Given the description of an element on the screen output the (x, y) to click on. 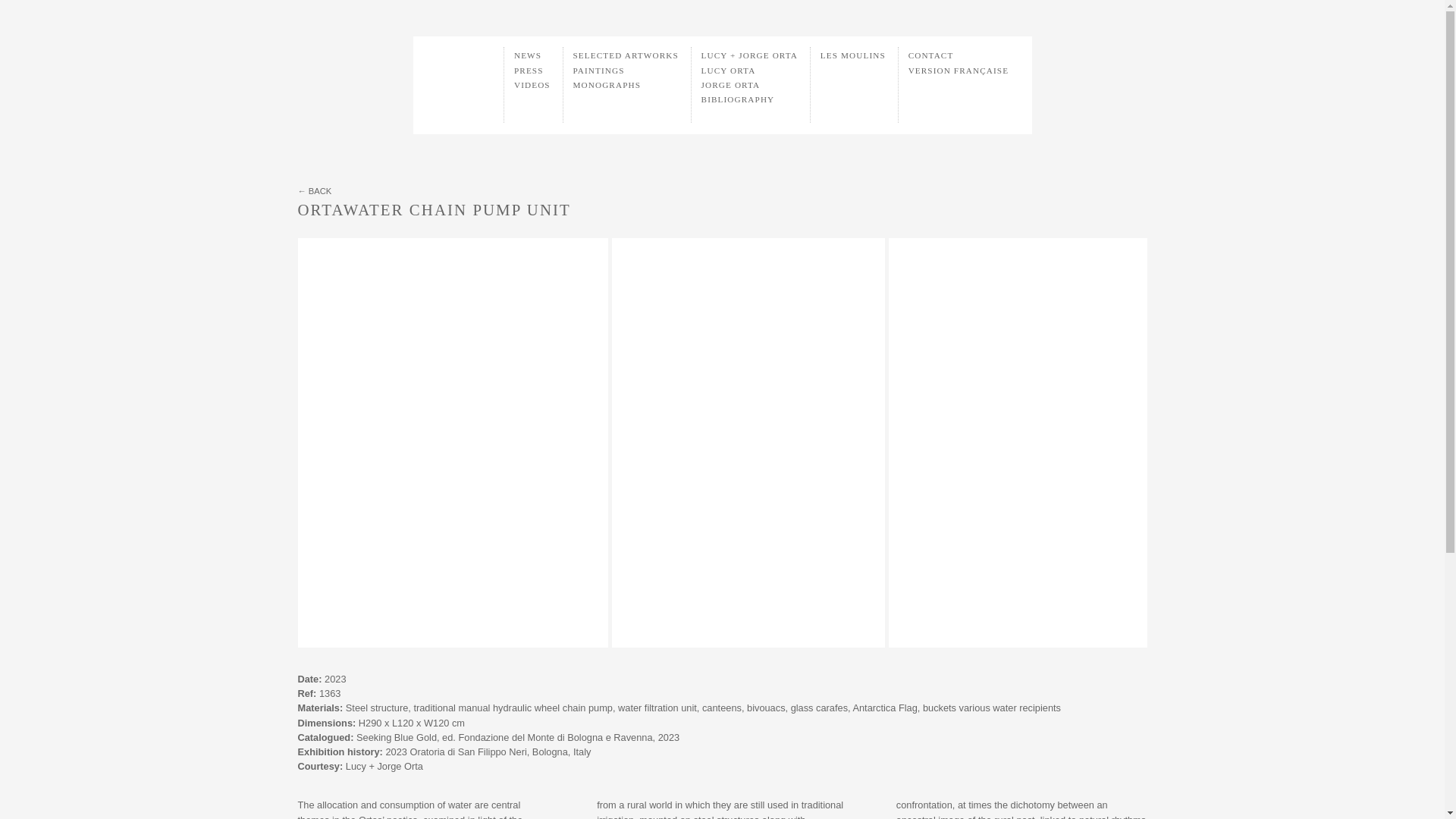
BIBLIOGRAPHY (737, 99)
MONOGRAPHS (607, 84)
JORGE ORTA (730, 84)
BACK (314, 190)
NEWS (527, 54)
VIDEOS (531, 84)
LES MOULINS (853, 54)
LUCY ORTA (728, 70)
CONTACT (930, 54)
PAINTINGS (598, 70)
SELECTED ARTWORKS (625, 54)
PRESS (528, 70)
